Given the description of an element on the screen output the (x, y) to click on. 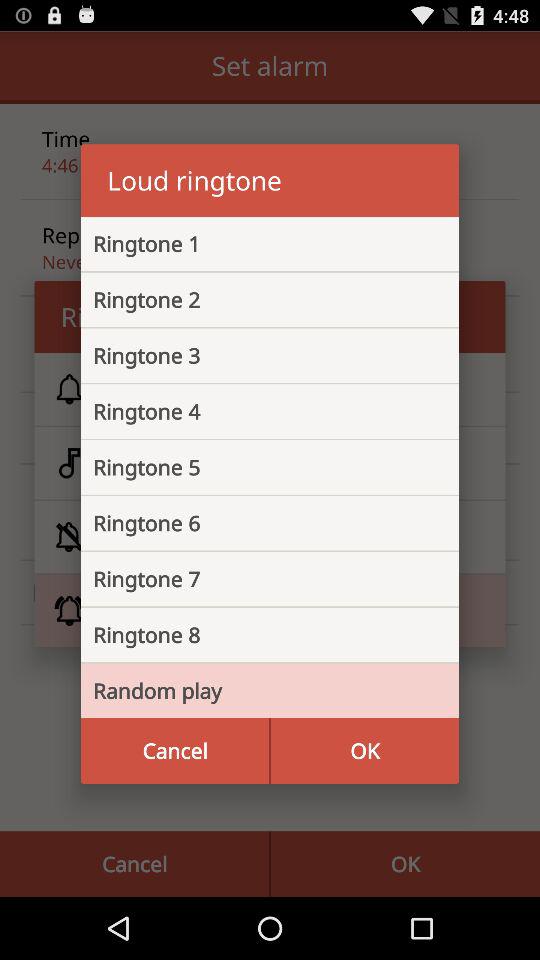
launch the icon above ringtone 3 item (254, 299)
